Given the description of an element on the screen output the (x, y) to click on. 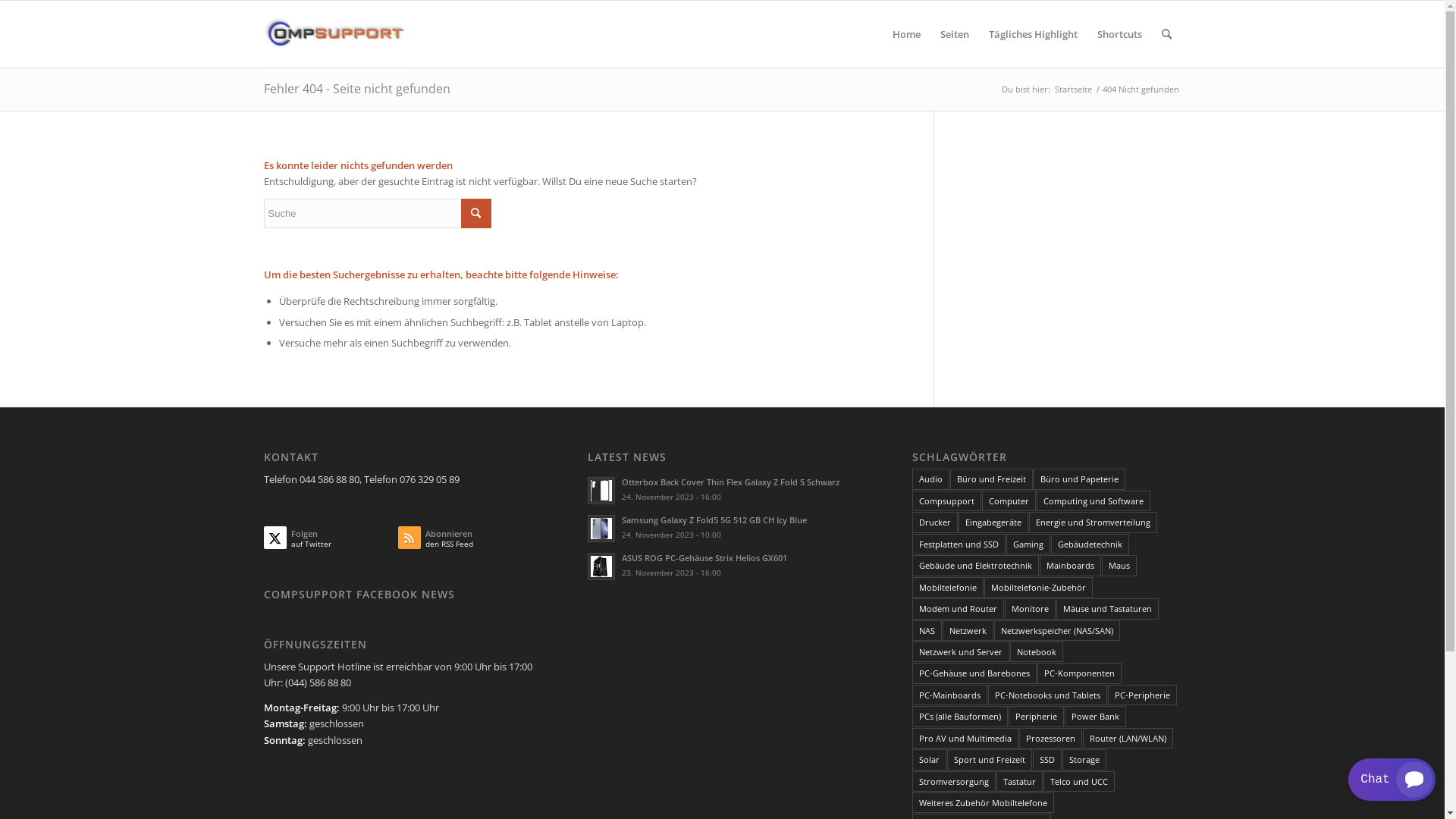
Stromversorgung Element type: text (953, 781)
Monitore Element type: text (1029, 608)
Solar Element type: text (929, 759)
Samsung Galaxy Z Fold5 5G 512 GB CH Icy Blue Element type: text (713, 519)
Drucker Element type: text (934, 521)
Home Element type: text (906, 33)
Audio Element type: text (930, 478)
Storage Element type: text (1084, 759)
Seiten Element type: text (953, 33)
Pro AV und Multimedia Element type: text (965, 738)
Computing und Software Element type: text (1093, 500)
Router (LAN/WLAN) Element type: text (1127, 738)
Mainboards Element type: text (1070, 565)
Read: Otterbox Back Cover Thin Flex Galaxy Z Fold 5 Schwarz Element type: hover (601, 490)
Abonnieren
den RSS Feed Element type: text (465, 541)
Compsupport Element type: text (946, 500)
Festplatten und SSD Element type: text (958, 543)
Sport und Freizeit Element type: text (989, 759)
Read: Samsung Galaxy Z Fold5 5G 512 GB CH Icy Blue Element type: hover (601, 528)
Startseite Element type: text (1073, 88)
Netzwerk und Server Element type: text (960, 651)
Modem und Router Element type: text (958, 608)
Smartsupp widget button Element type: hover (1391, 779)
Computer Element type: text (1008, 500)
PC-Komponenten Element type: text (1079, 672)
Netzwerkspeicher (NAS/SAN) Element type: text (1057, 630)
Notebook Element type: text (1036, 651)
Prozessoren Element type: text (1050, 738)
Shortcuts Element type: text (1119, 33)
Gaming Element type: text (1028, 543)
Tastatur Element type: text (1019, 781)
PCs (alle Bauformen) Element type: text (959, 716)
SSD Element type: text (1046, 759)
Power Bank Element type: text (1095, 716)
PC-Mainboards Element type: text (949, 694)
Energie und Stromverteilung Element type: text (1093, 521)
PC-Notebooks und Tablets Element type: text (1047, 694)
NAS Element type: text (926, 630)
Otterbox Back Cover Thin Flex Galaxy Z Fold 5 Schwarz Element type: text (730, 481)
Maus Element type: text (1118, 565)
Netzwerk Element type: text (967, 630)
Peripherie Element type: text (1035, 716)
Folgen
auf Twitter Element type: text (330, 541)
Telco und UCC Element type: text (1078, 781)
Mobiltelefonie Element type: text (947, 587)
PC-Peripherie Element type: text (1141, 694)
